Given the description of an element on the screen output the (x, y) to click on. 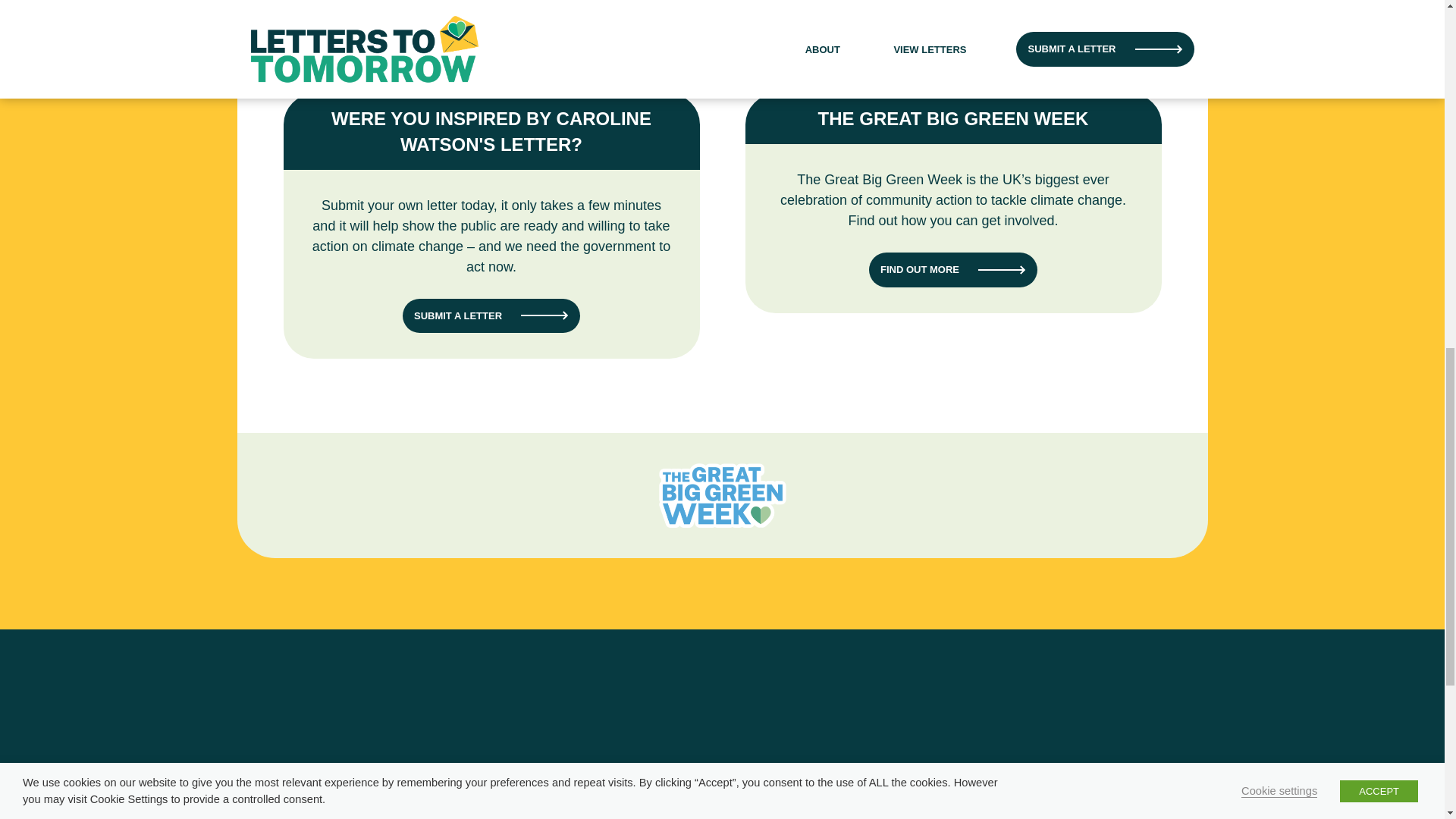
FIND OUT MORE (952, 269)
SUBMIT A LETTER (491, 315)
